Given the description of an element on the screen output the (x, y) to click on. 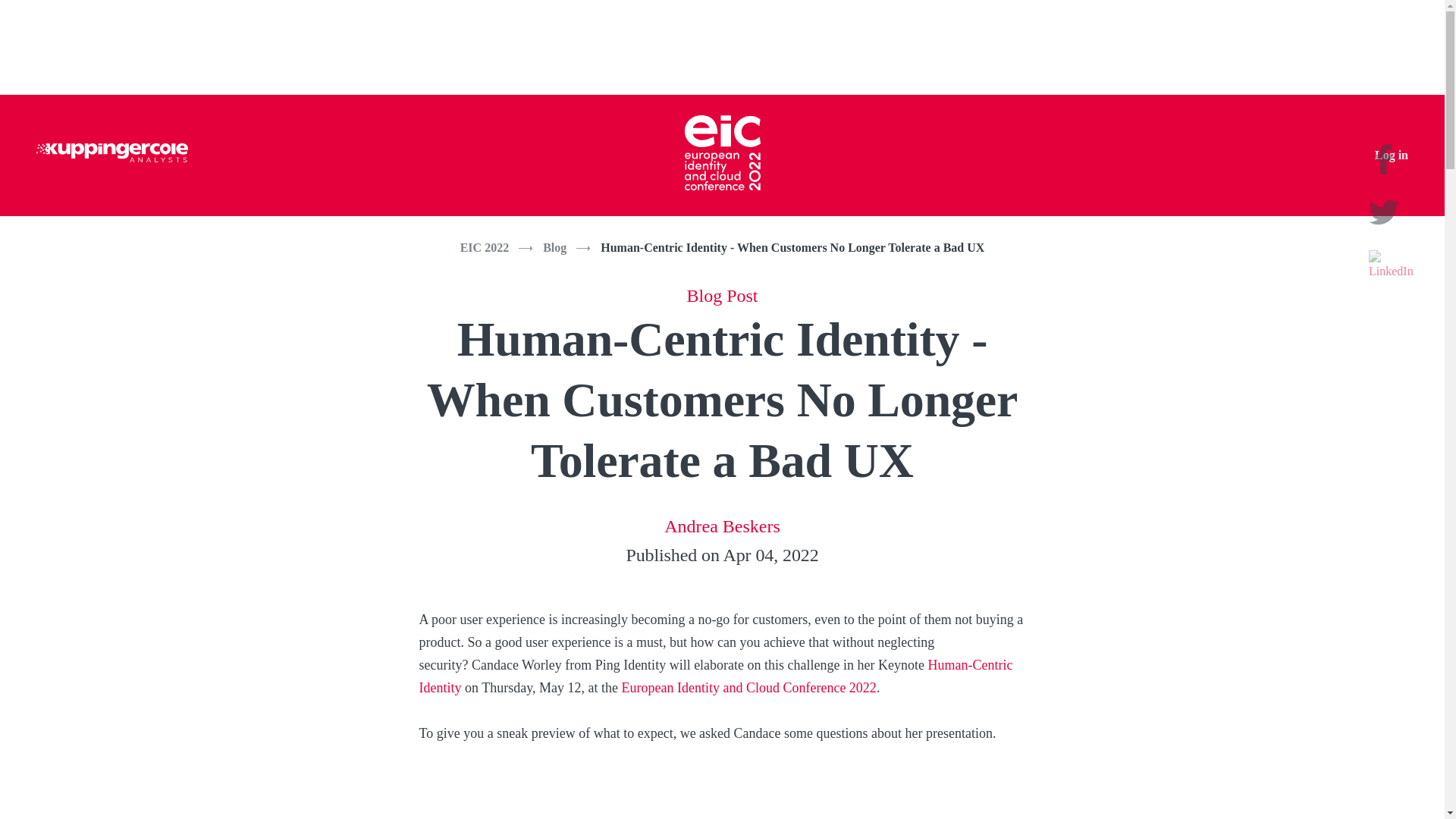
EIC 2022 (484, 246)
European Identity and Cloud Conference 2022 (748, 687)
Human-Centric Identity (715, 676)
Log in (1390, 155)
Blog (554, 246)
